Given the description of an element on the screen output the (x, y) to click on. 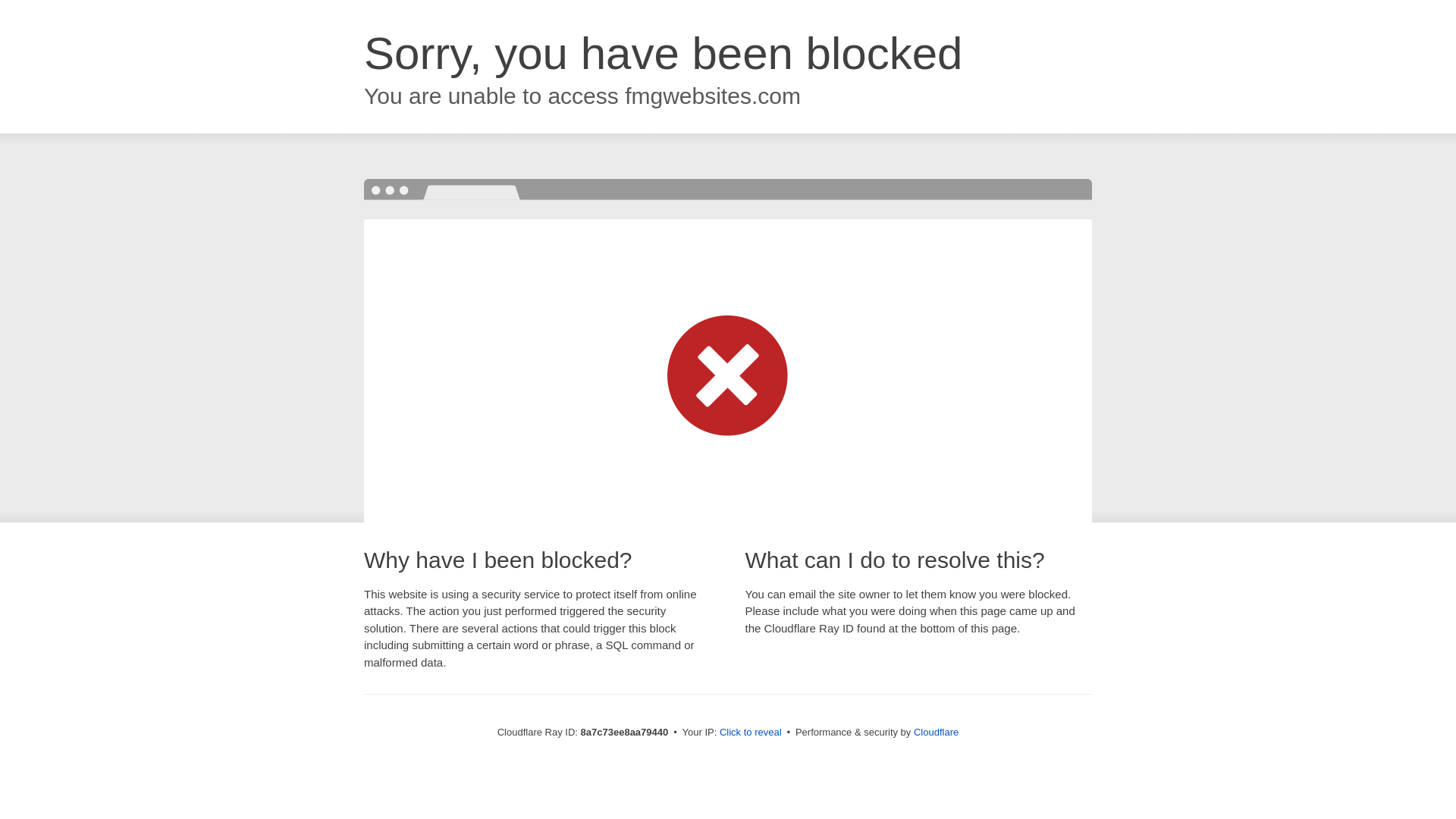
Click to reveal (750, 732)
Cloudflare (936, 731)
